Given the description of an element on the screen output the (x, y) to click on. 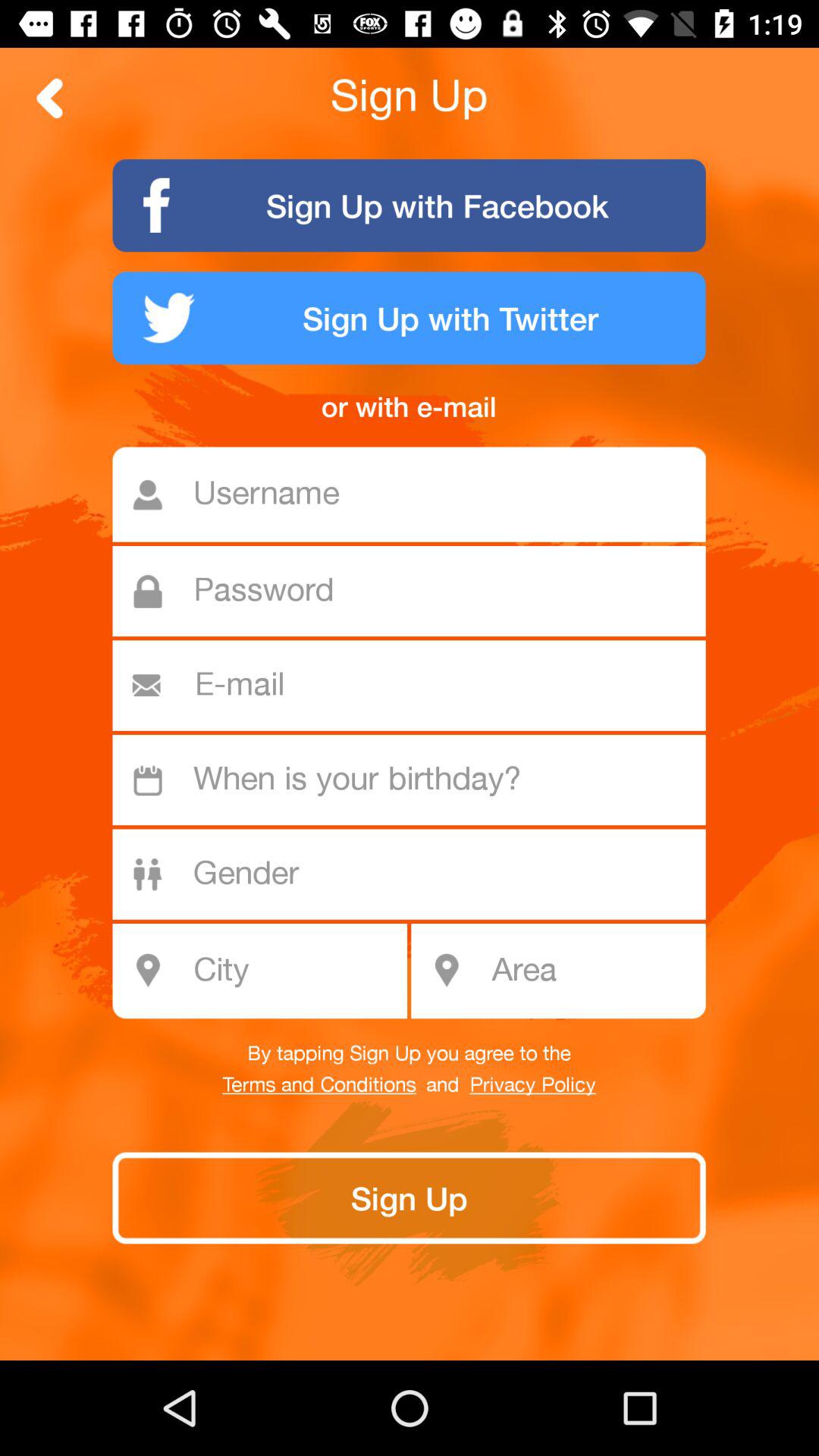
enter area (593, 970)
